Given the description of an element on the screen output the (x, y) to click on. 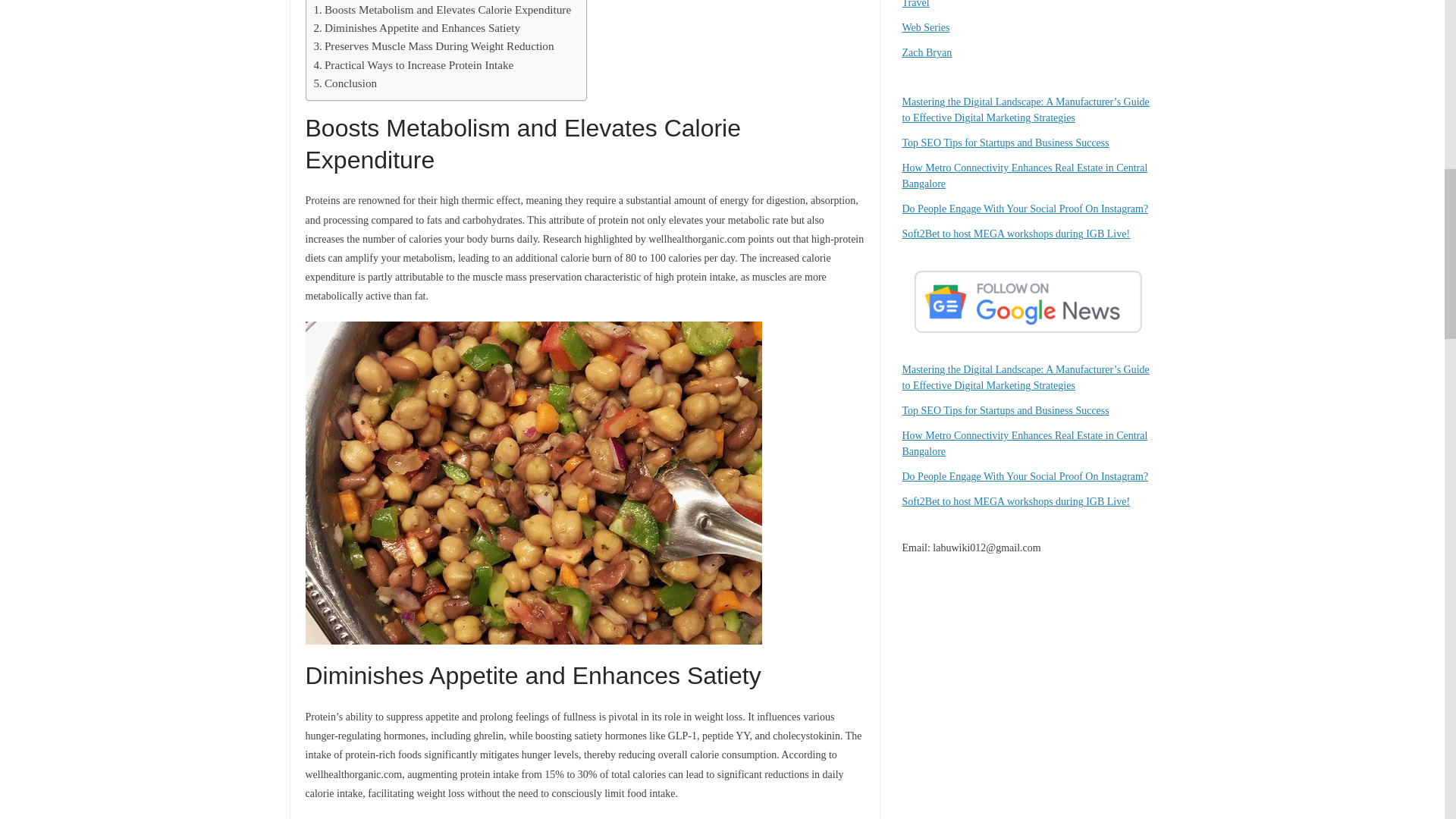
Conclusion (345, 83)
Boosts Metabolism and Elevates Calorie Expenditure (443, 9)
Boosts Metabolism and Elevates Calorie Expenditure (443, 9)
Practical Ways to Increase Protein Intake (413, 65)
Conclusion (345, 83)
Practical Ways to Increase Protein Intake (413, 65)
Diminishes Appetite and Enhances Satiety (417, 27)
Preserves Muscle Mass During Weight Reduction (434, 45)
Preserves Muscle Mass During Weight Reduction (434, 45)
Diminishes Appetite and Enhances Satiety (417, 27)
